Given the description of an element on the screen output the (x, y) to click on. 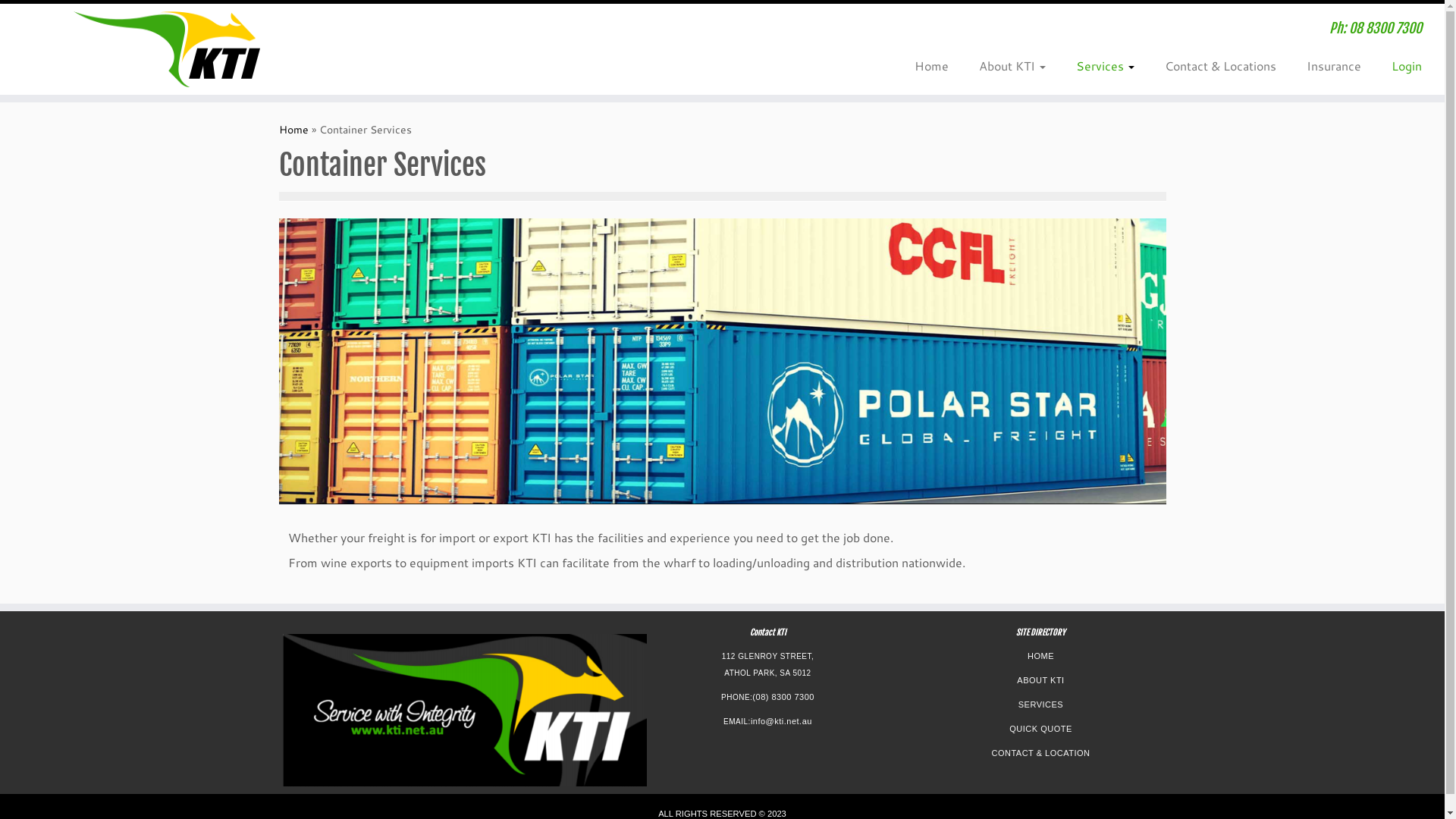
SERVICES Element type: text (1040, 704)
QUICK QUOTE Element type: text (1040, 728)
About KTI Element type: text (1011, 65)
info@kti.net.au Element type: text (781, 720)
Insurance Element type: text (1333, 65)
Contact KTI Element type: text (767, 632)
CONTACT & LOCATION Element type: text (1040, 752)
ABOUT KTI Element type: text (1039, 679)
Kangaroo Transport Industries | Ph: 08 8300 7300 Element type: hover (166, 49)
Home Element type: text (293, 129)
Services Element type: text (1104, 65)
(08) 8300 7300 Element type: text (783, 696)
Login Element type: text (1398, 65)
Home Element type: text (931, 65)
SITE DIRECTORY Element type: text (1040, 632)
Contact & Locations Element type: text (1220, 65)
HOME Element type: text (1040, 655)
